Given the description of an element on the screen output the (x, y) to click on. 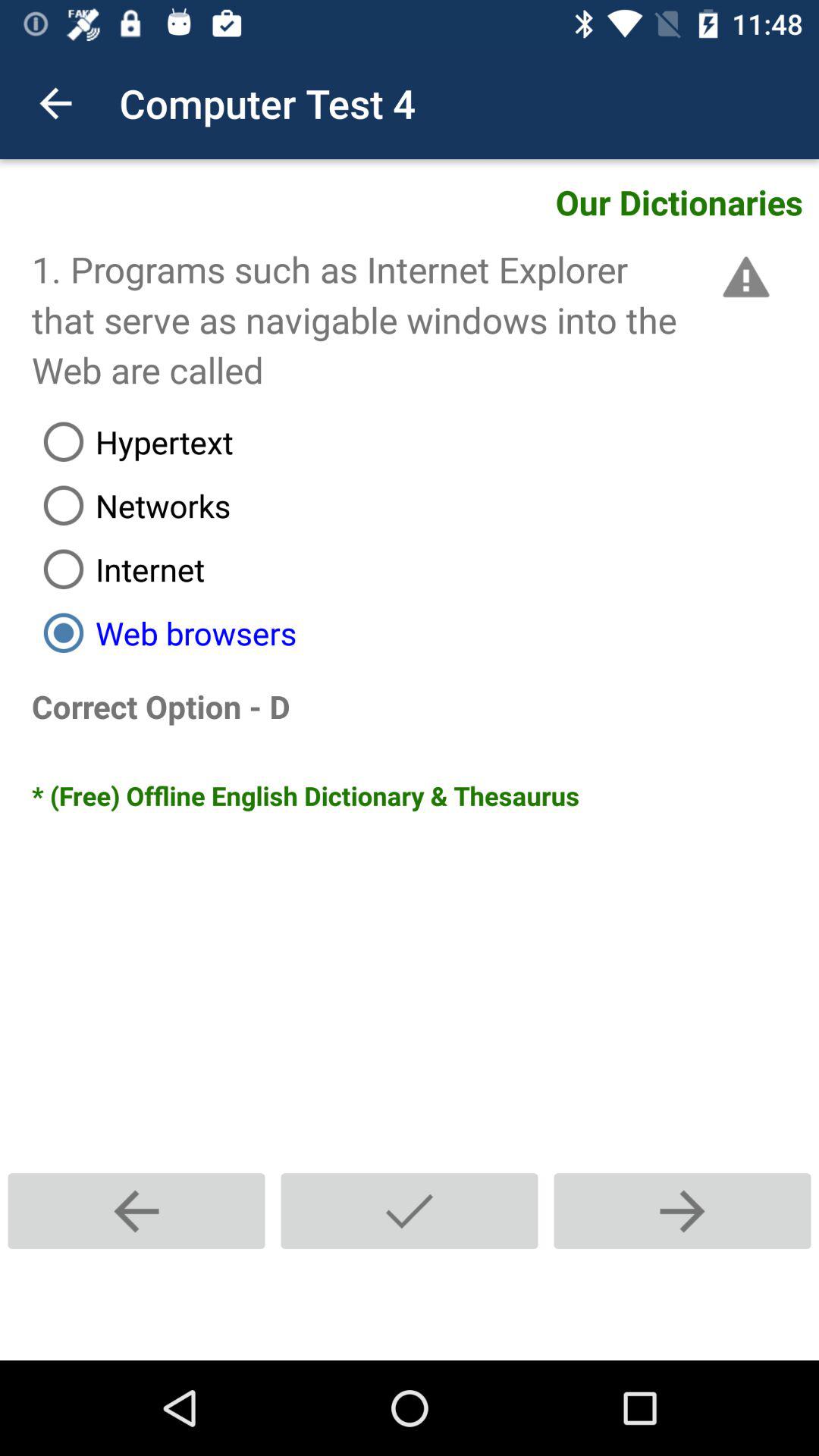
tap icon above our dictionaries (55, 103)
